Given the description of an element on the screen output the (x, y) to click on. 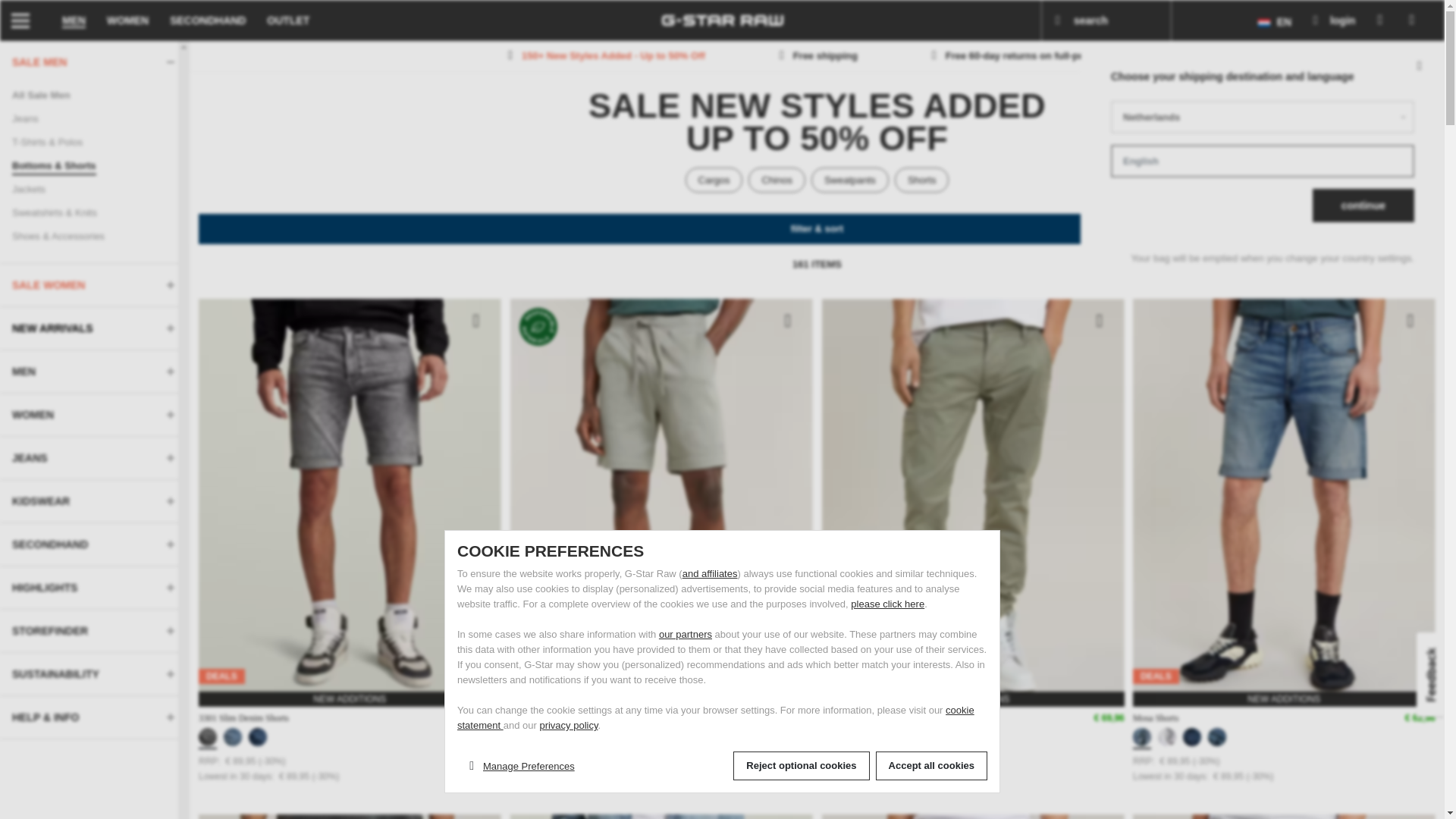
EN (1274, 20)
Jeans (94, 118)
continue (1363, 205)
Free shipping  (816, 55)
Premium Core Sweat Shorts (561, 717)
Skinny Chino 2.0 (853, 717)
3301 Slim Denim Shorts (243, 717)
Jackets (94, 188)
Free 60-day returns on full-price orders  (1029, 55)
SECONDHAND (207, 20)
G-Star Raw (721, 20)
login (1331, 20)
WOMEN (127, 20)
All Sale Men (94, 95)
Mosa Shorts (1154, 717)
